Given the description of an element on the screen output the (x, y) to click on. 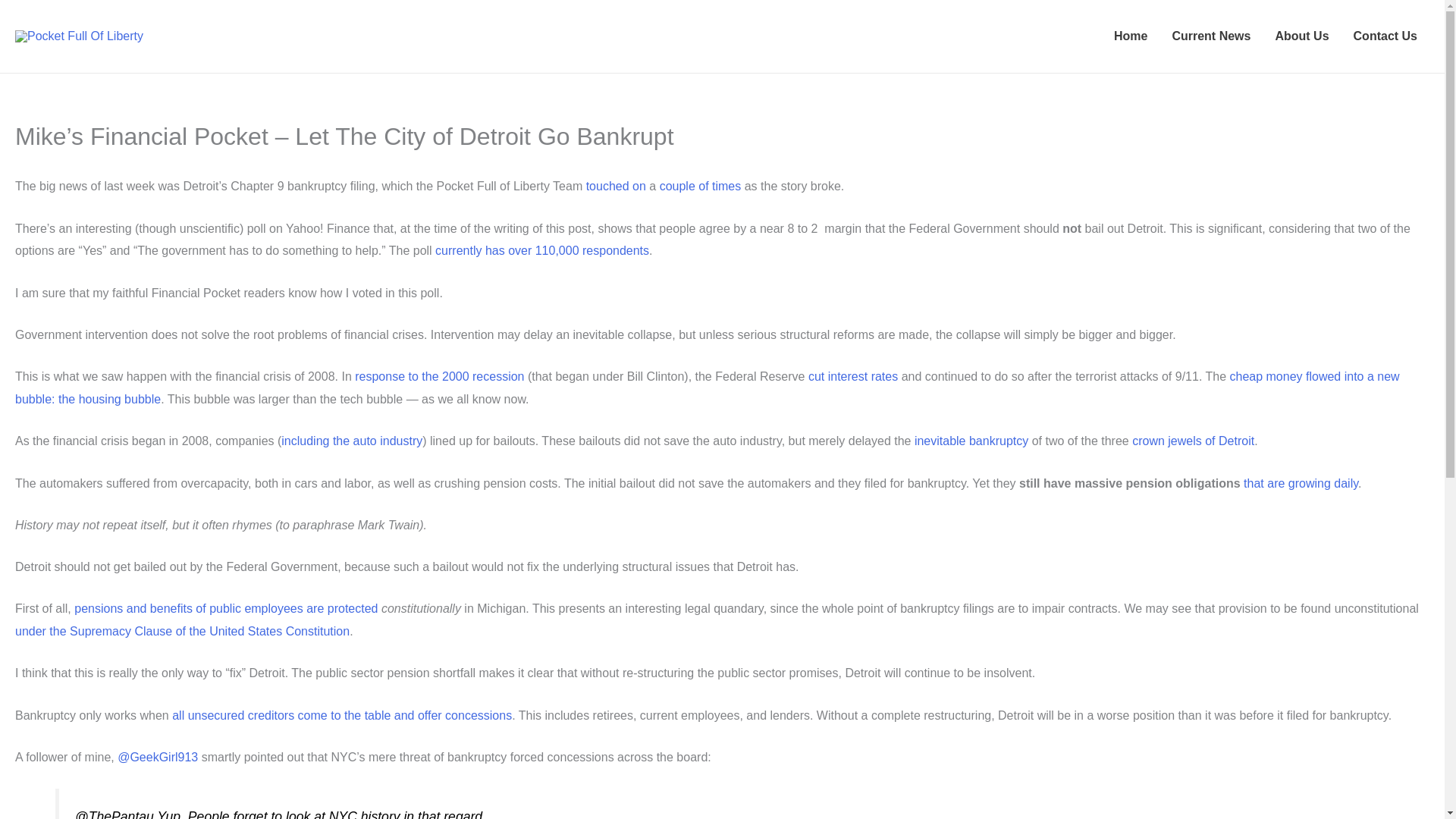
under the Supremacy Clause of the United States Constitution (181, 631)
inevitable bankruptcy (970, 440)
Current News (1210, 36)
About Us (1301, 36)
Home (1130, 36)
cut interest rates (854, 376)
response to the 2000 recession (439, 376)
couple of times (700, 185)
pensions and benefits of public employees are protected (225, 608)
that are growing daily (1300, 482)
currently has over 110,000 respondents (542, 250)
crown jewels of Detroit (1192, 440)
Contact Us (1384, 36)
cheap money flowed into a new bubble: the housing bubble (706, 387)
